Given the description of an element on the screen output the (x, y) to click on. 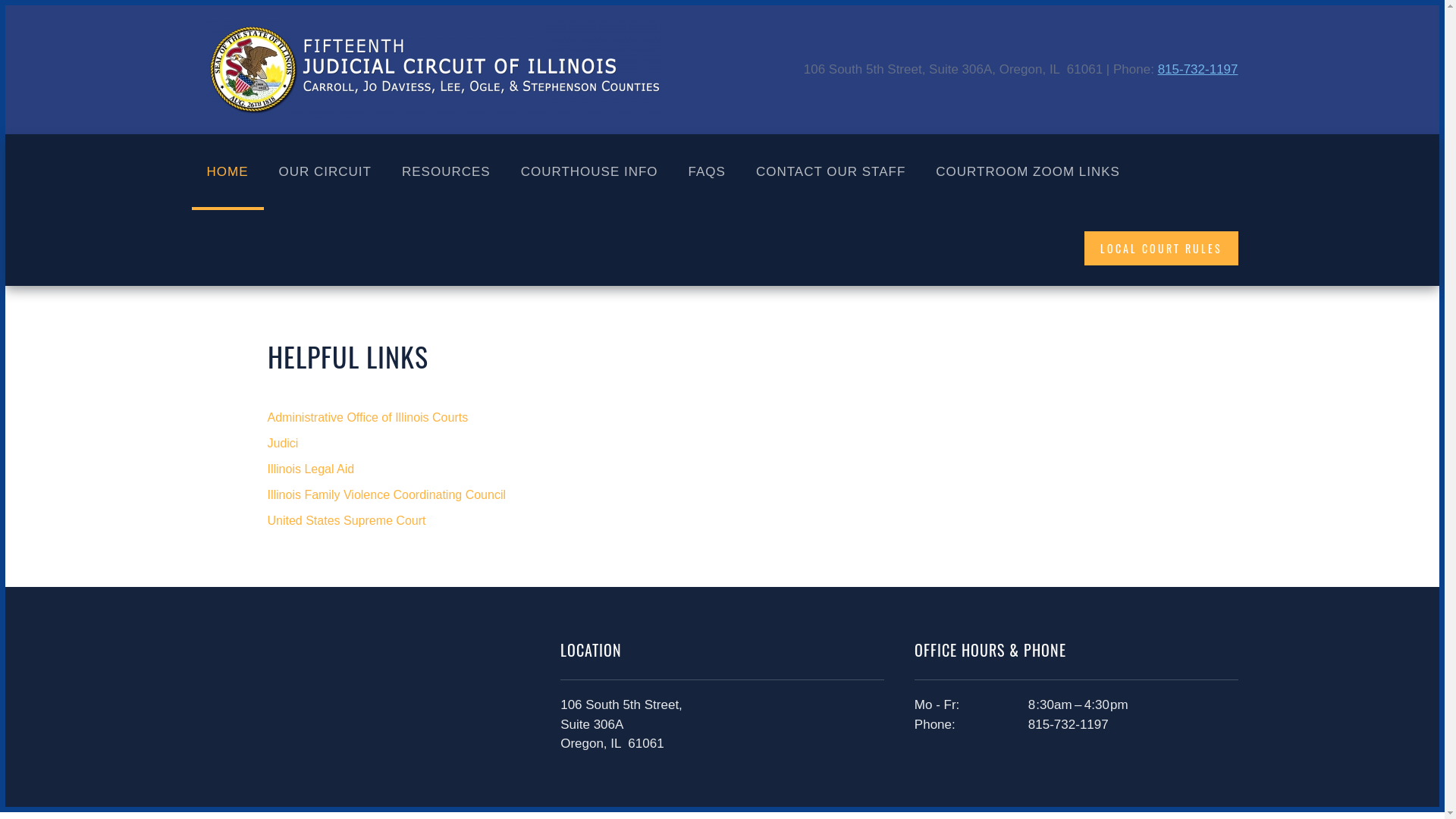
OUR CIRCUIT Element type: text (324, 172)
Illinois Family Violence Coordinating Council Element type: text (721, 495)
COURTROOM ZOOM LINKS Element type: text (1027, 172)
RESOURCES Element type: text (445, 172)
CONTACT OUR STAFF Element type: text (830, 172)
Administrative Office of Illinois Courts Element type: text (721, 417)
United States Supreme Court Element type: text (721, 520)
HOME Element type: text (227, 172)
FAQS Element type: text (706, 172)
Illinois Legal Aid Element type: text (721, 469)
LOCAL COURT RULES Element type: text (1161, 247)
COURTHOUSE INFO Element type: text (589, 172)
815-732-1197 Element type: text (1197, 69)
Judici Element type: text (721, 443)
